Given the description of an element on the screen output the (x, y) to click on. 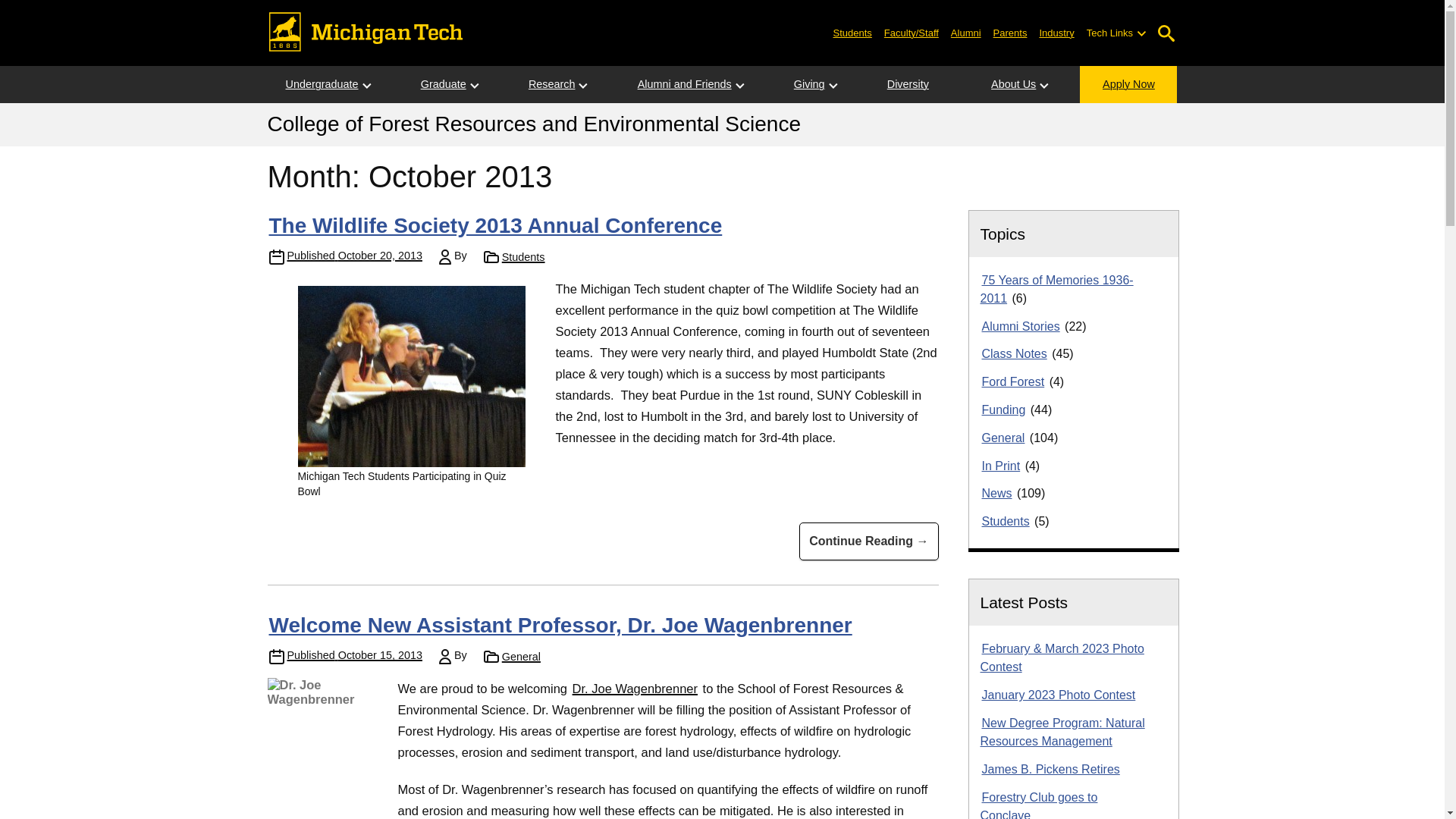
Undergraduate (320, 84)
Alumni (965, 32)
Parents (1010, 32)
Students (852, 32)
Industry (1056, 32)
Open Search (1166, 33)
Graduate (443, 84)
